Given the description of an element on the screen output the (x, y) to click on. 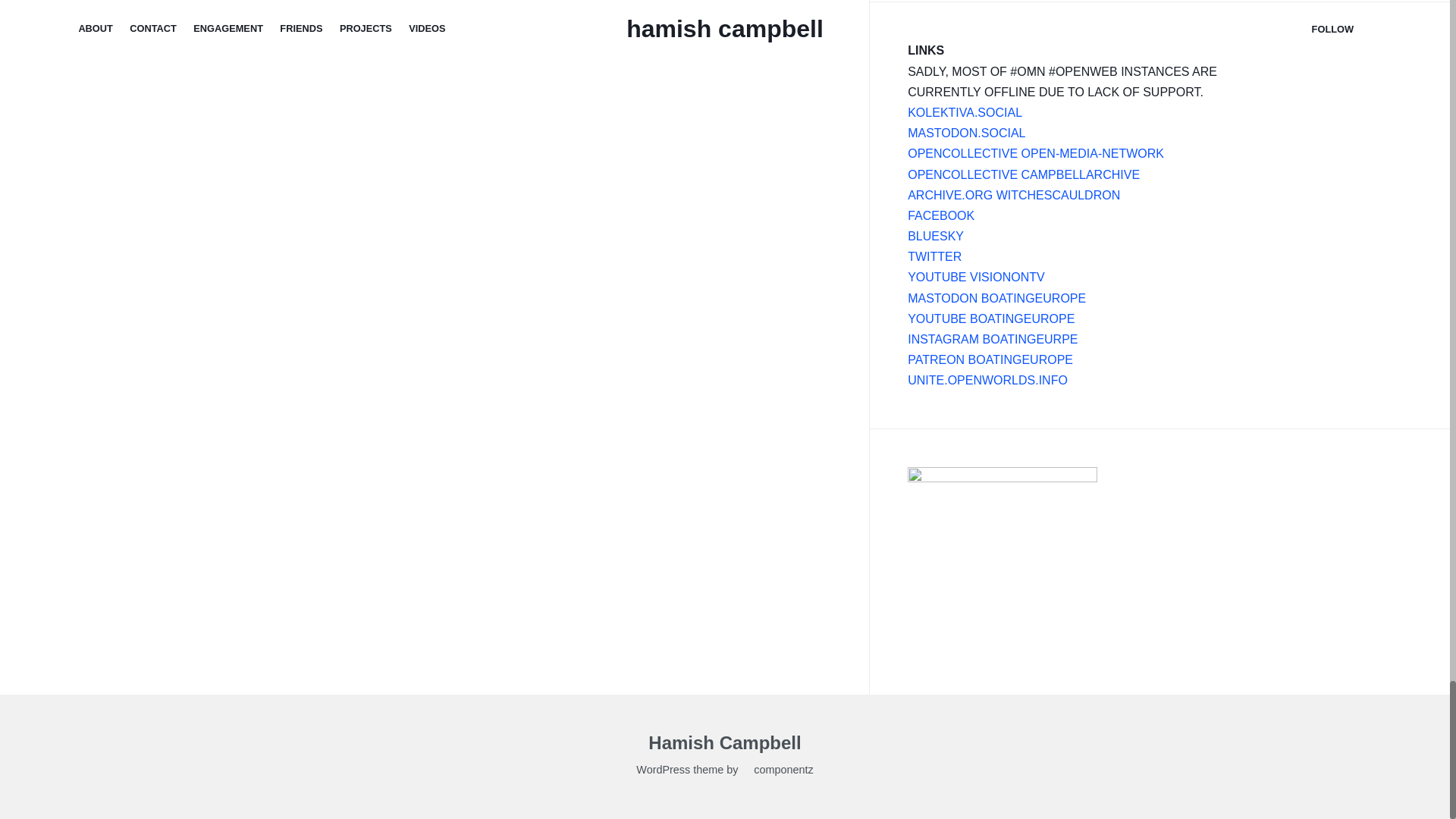
WordPress (663, 771)
Hamish Campbell (723, 745)
componentz (776, 771)
